Given the description of an element on the screen output the (x, y) to click on. 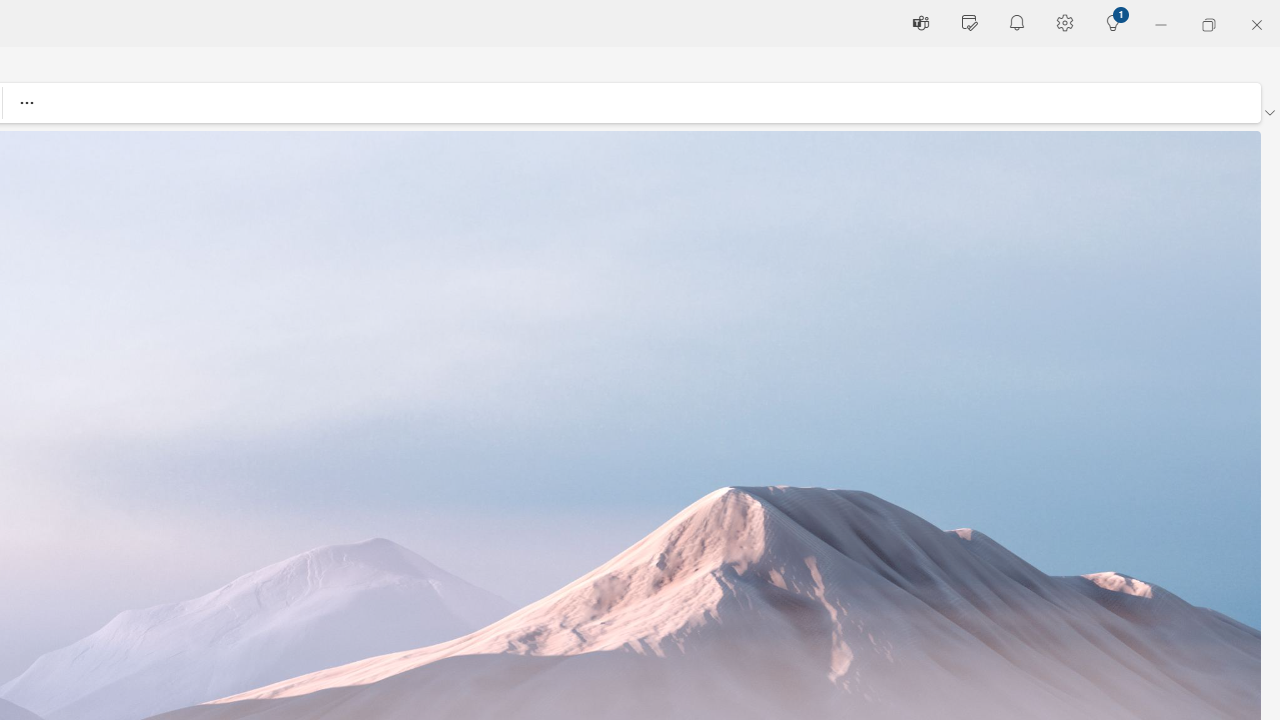
More options (26, 102)
Ribbon display options (1269, 112)
